Given the description of an element on the screen output the (x, y) to click on. 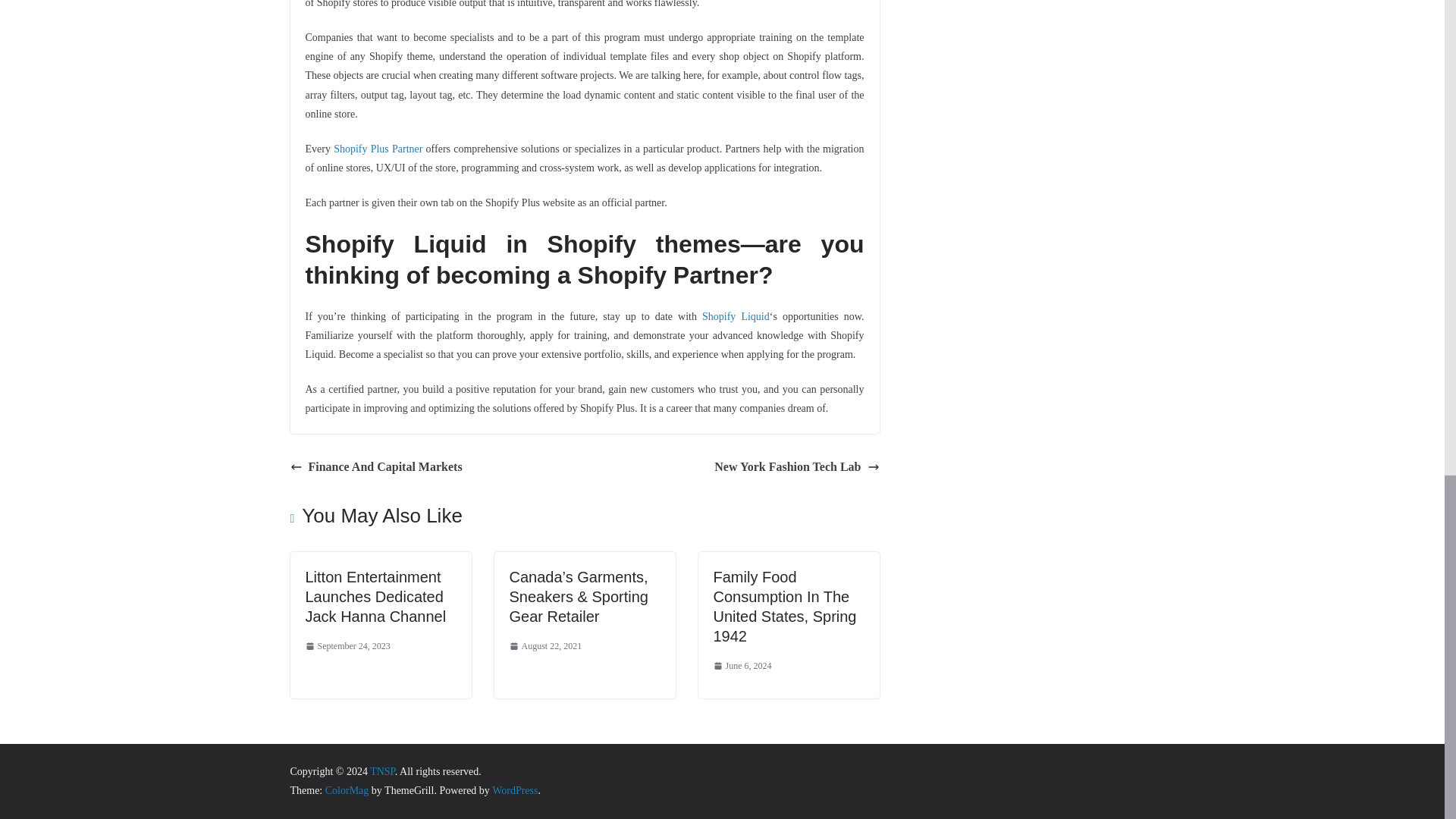
Family Food Consumption In The United States, Spring 1942 (784, 606)
2:19 am (347, 646)
7:24 am (545, 646)
Litton Entertainment Launches Dedicated Jack Hanna Channel (374, 596)
TNSP (381, 771)
7:28 pm (742, 666)
